Given the description of an element on the screen output the (x, y) to click on. 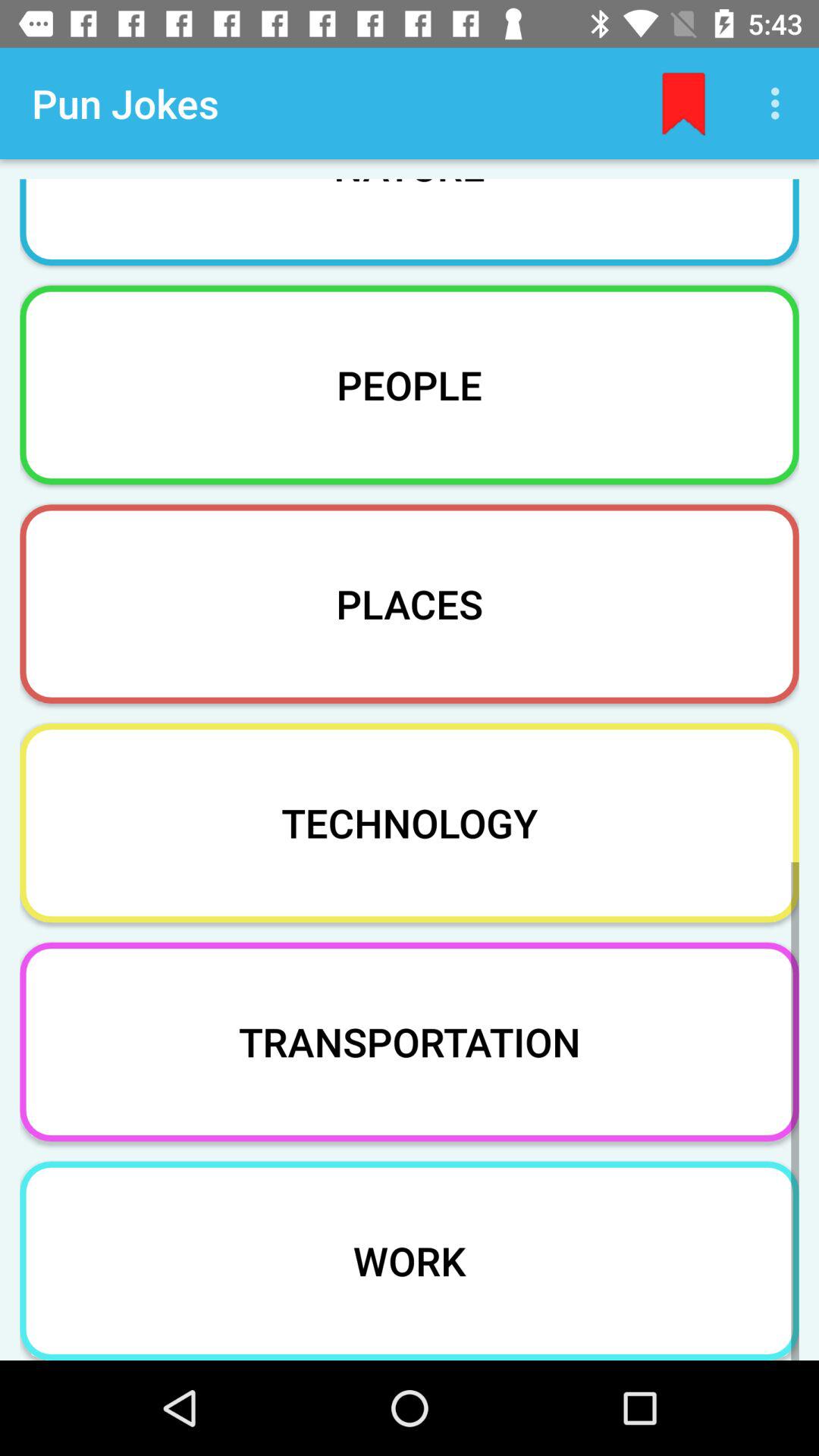
open the app to the right of the pun jokes item (683, 103)
